Given the description of an element on the screen output the (x, y) to click on. 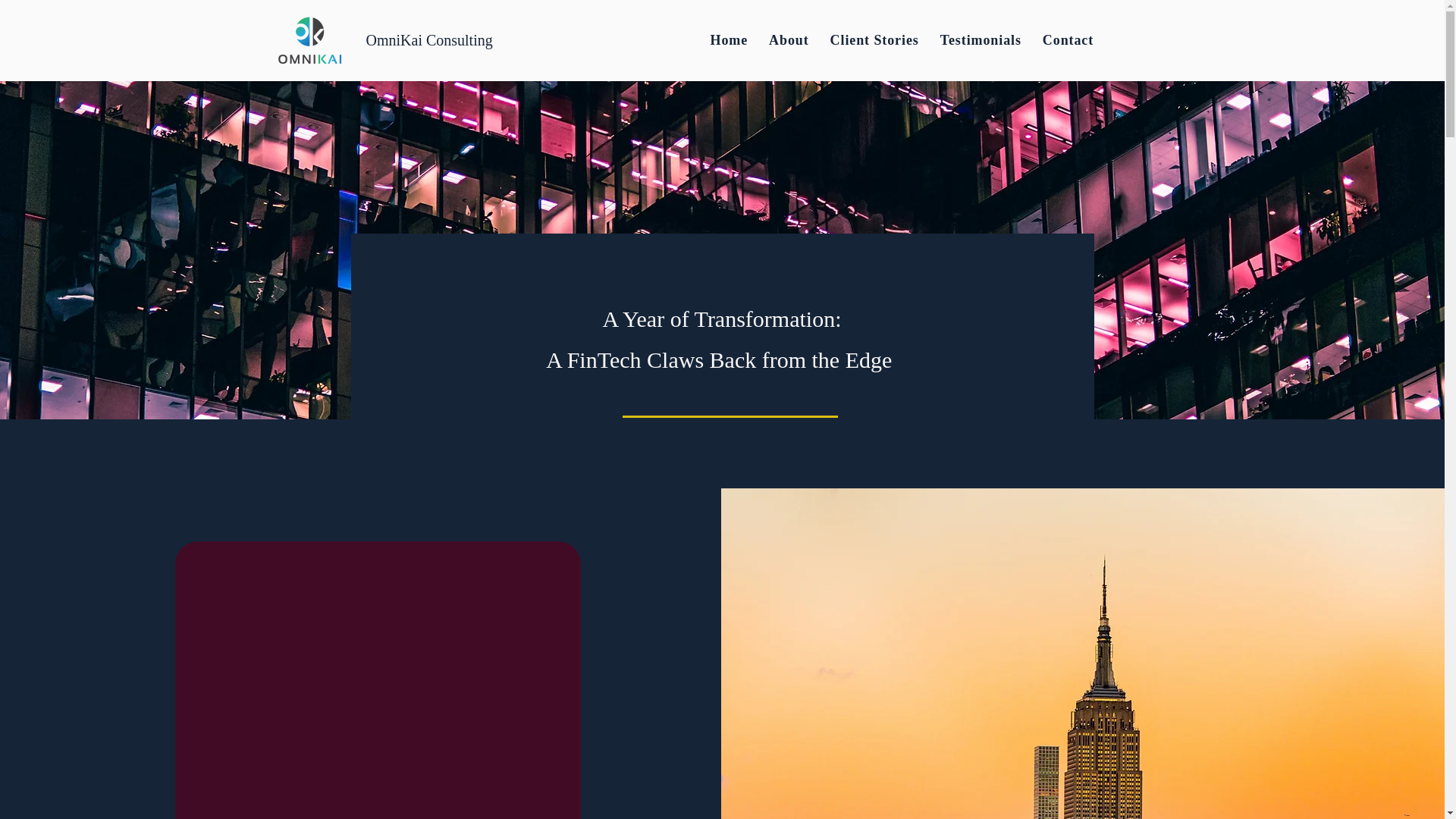
Home (728, 40)
Client Stories (874, 40)
About (788, 40)
Testimonials (981, 40)
Contact (1067, 40)
